Given the description of an element on the screen output the (x, y) to click on. 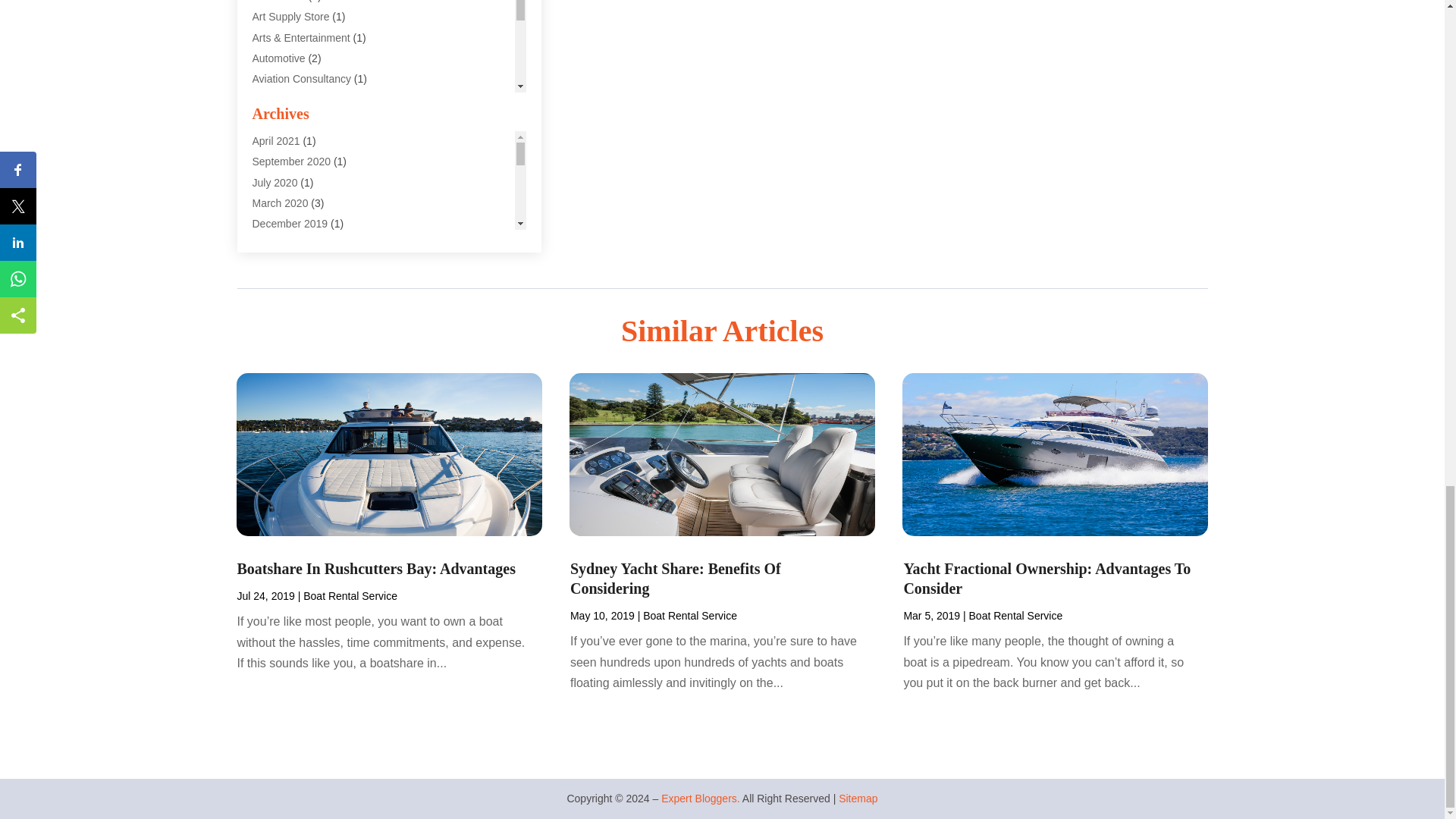
Aviation Consultancy (300, 78)
Beauty-Clinic (282, 119)
Computer Services (296, 264)
Art Supply Store (290, 16)
Cleaning (272, 202)
Cleaning Supplies Store (308, 223)
Bathroom Renovation (302, 99)
Concrete Contractor (299, 285)
Computer And Internet (304, 243)
Automotive (277, 58)
Boat Rental Service (298, 161)
Blinds Shop (279, 140)
Accountant (277, 1)
Business (273, 182)
